Given the description of an element on the screen output the (x, y) to click on. 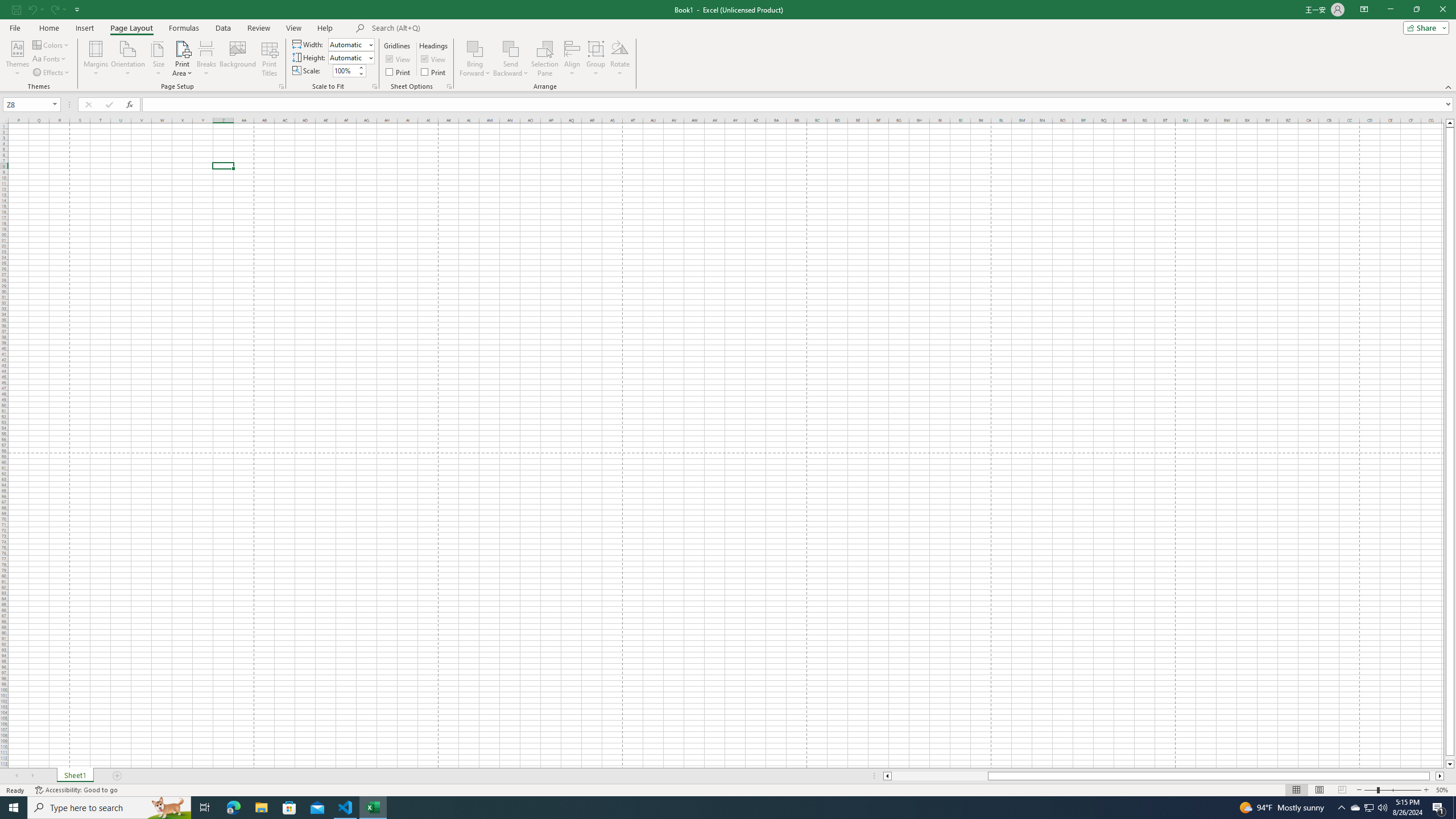
Print Area (182, 58)
Group (595, 58)
Fonts (49, 58)
Size (158, 58)
Microsoft search (450, 28)
Send Backward (510, 48)
Print (434, 71)
Send Backward (510, 58)
